Given the description of an element on the screen output the (x, y) to click on. 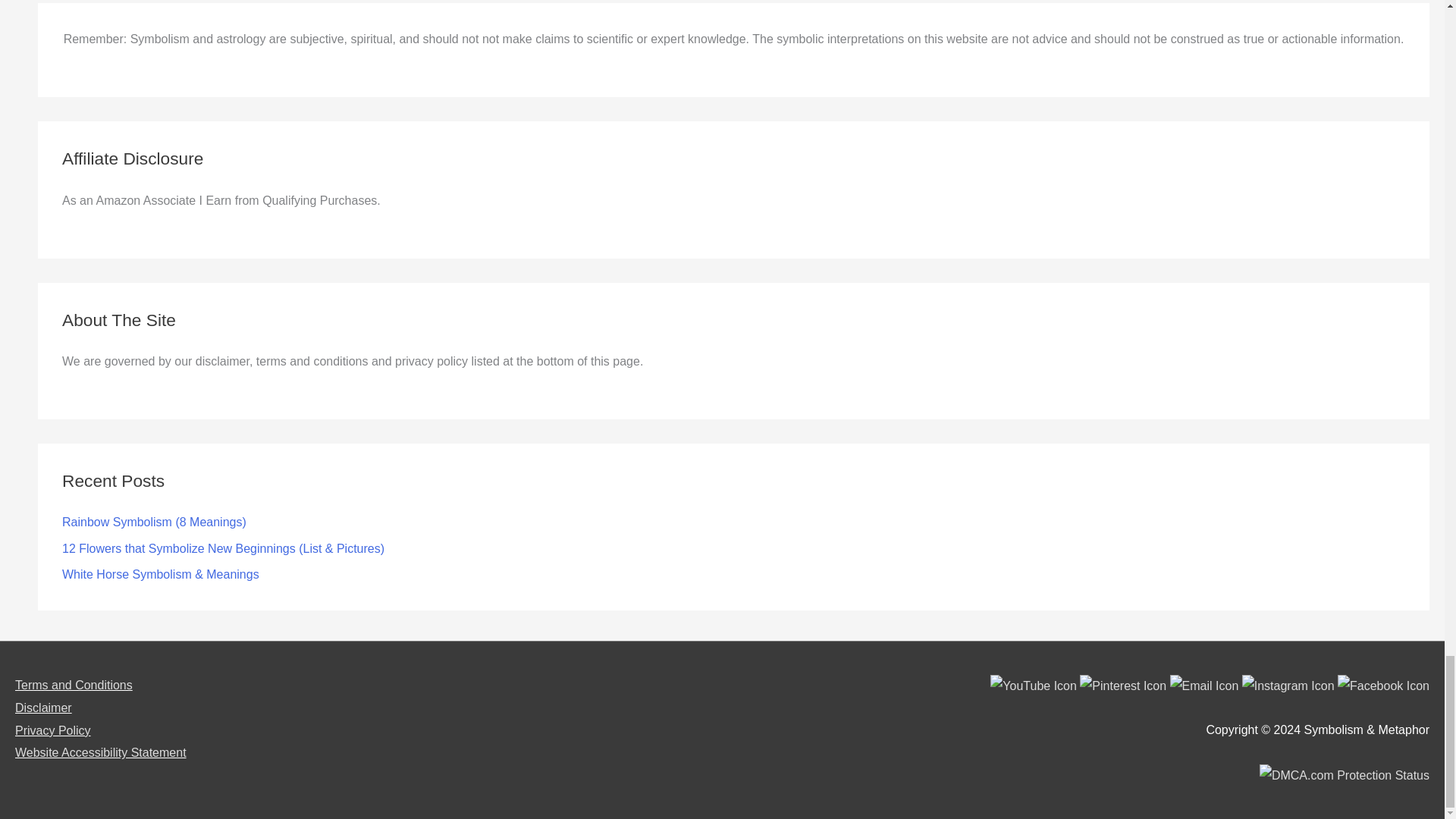
DMCA.com Protection Status (1344, 774)
Website Accessibility Statement (100, 752)
Privacy Policy (52, 729)
Terms and Conditions (73, 684)
Disclaimer (42, 707)
